Given the description of an element on the screen output the (x, y) to click on. 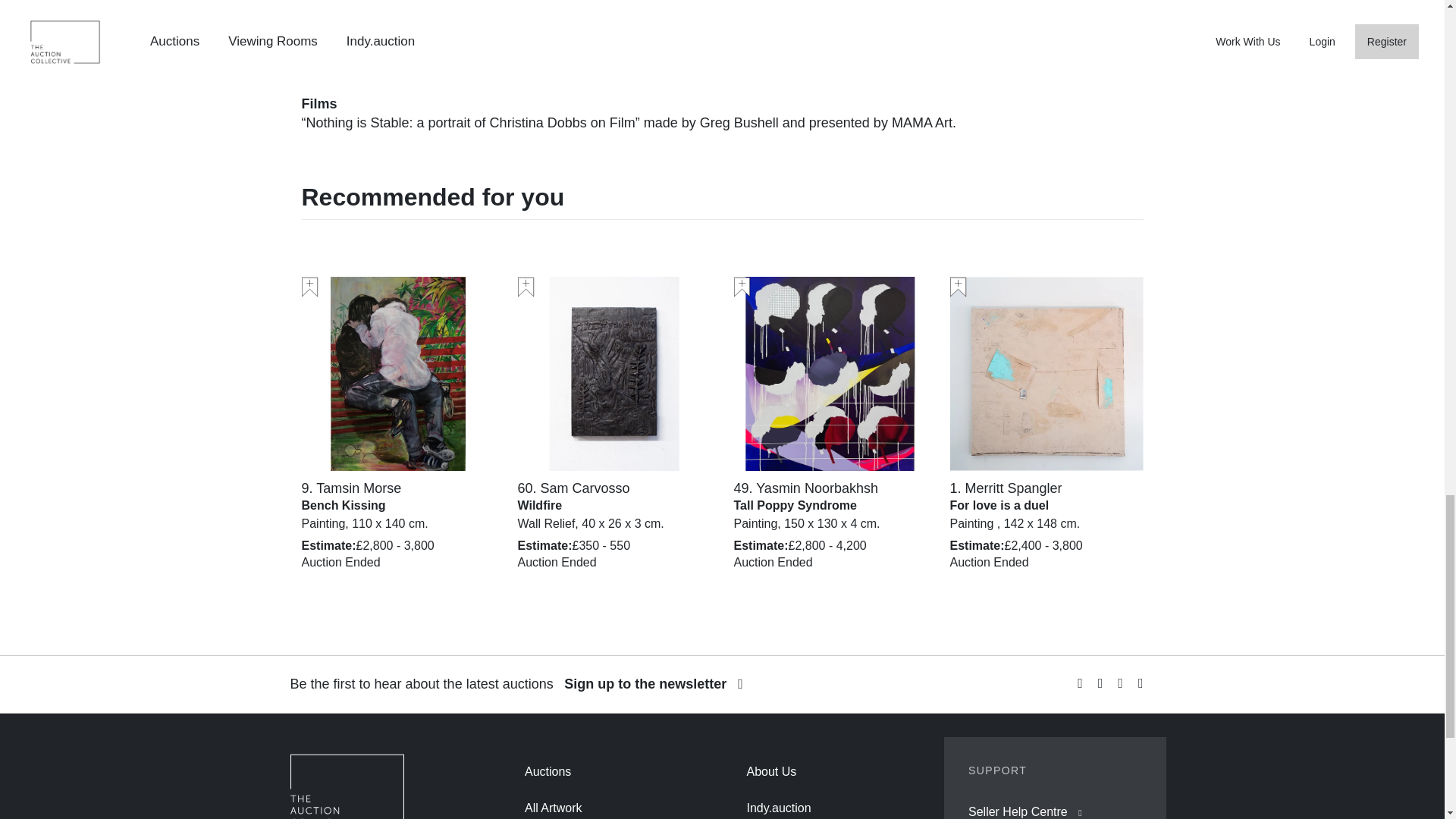
Auctions (547, 771)
About Us (770, 771)
Indy.auction (777, 807)
Sign up to the newsletter (653, 683)
All Artwork (553, 807)
Seller Help Centre (1017, 811)
